Given the description of an element on the screen output the (x, y) to click on. 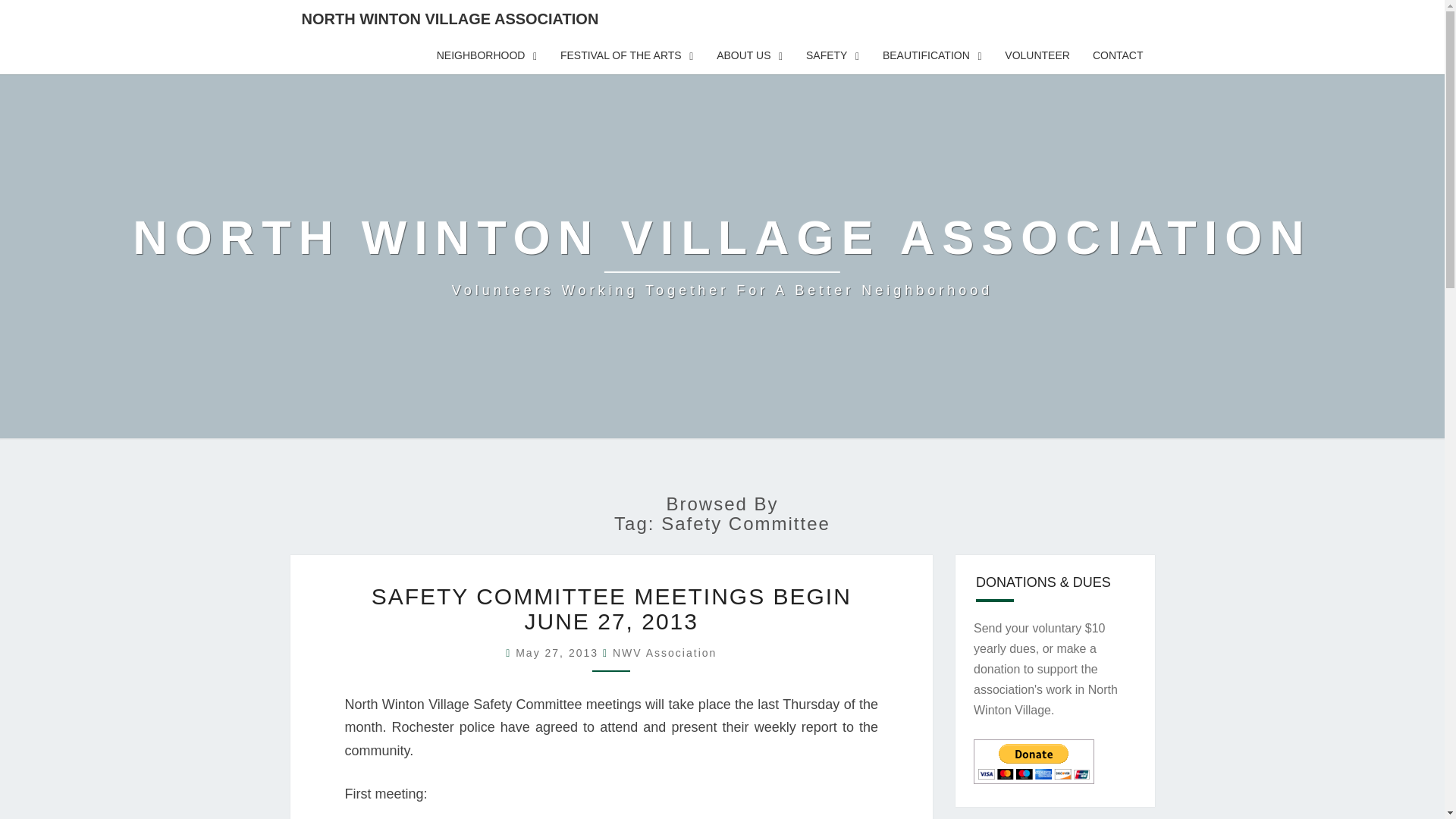
CONTACT (1117, 55)
NWV Association (664, 653)
NORTH WINTON VILLAGE ASSOCIATION (449, 18)
BEAUTIFICATION (931, 55)
Festival of the Arts (626, 55)
NEIGHBORHOOD (486, 55)
SAFETY COMMITTEE MEETINGS BEGIN JUNE 27, 2013 (611, 608)
May 27, 2013 (558, 653)
FESTIVAL OF THE ARTS (626, 55)
Neighborhood (486, 55)
Safety (832, 55)
VOLUNTEER (1036, 55)
About Us (749, 55)
SAFETY (832, 55)
